Given the description of an element on the screen output the (x, y) to click on. 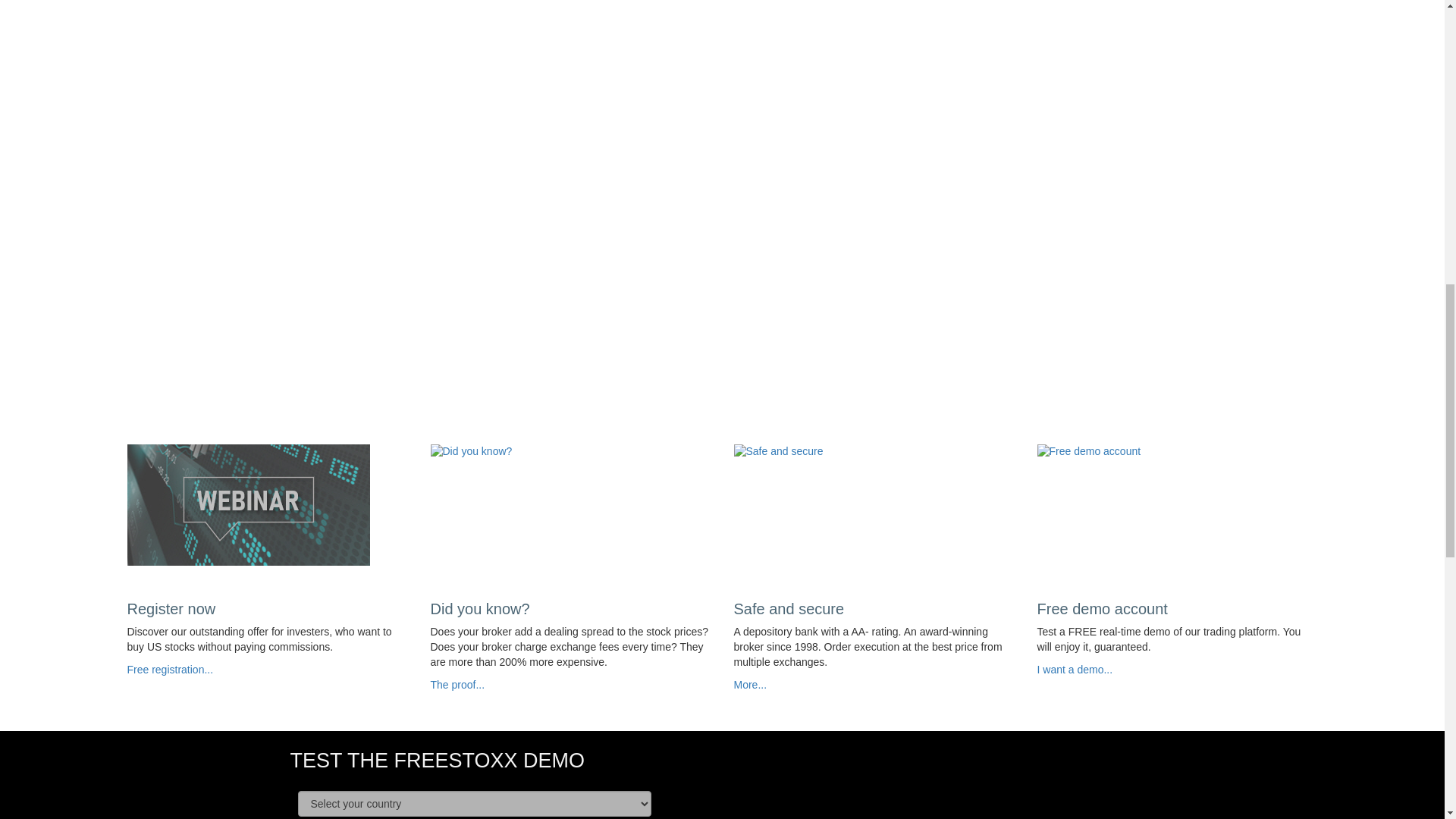
I want a demo... (1074, 669)
More... (750, 684)
The proof... (457, 684)
Free registration... (171, 669)
